Given the description of an element on the screen output the (x, y) to click on. 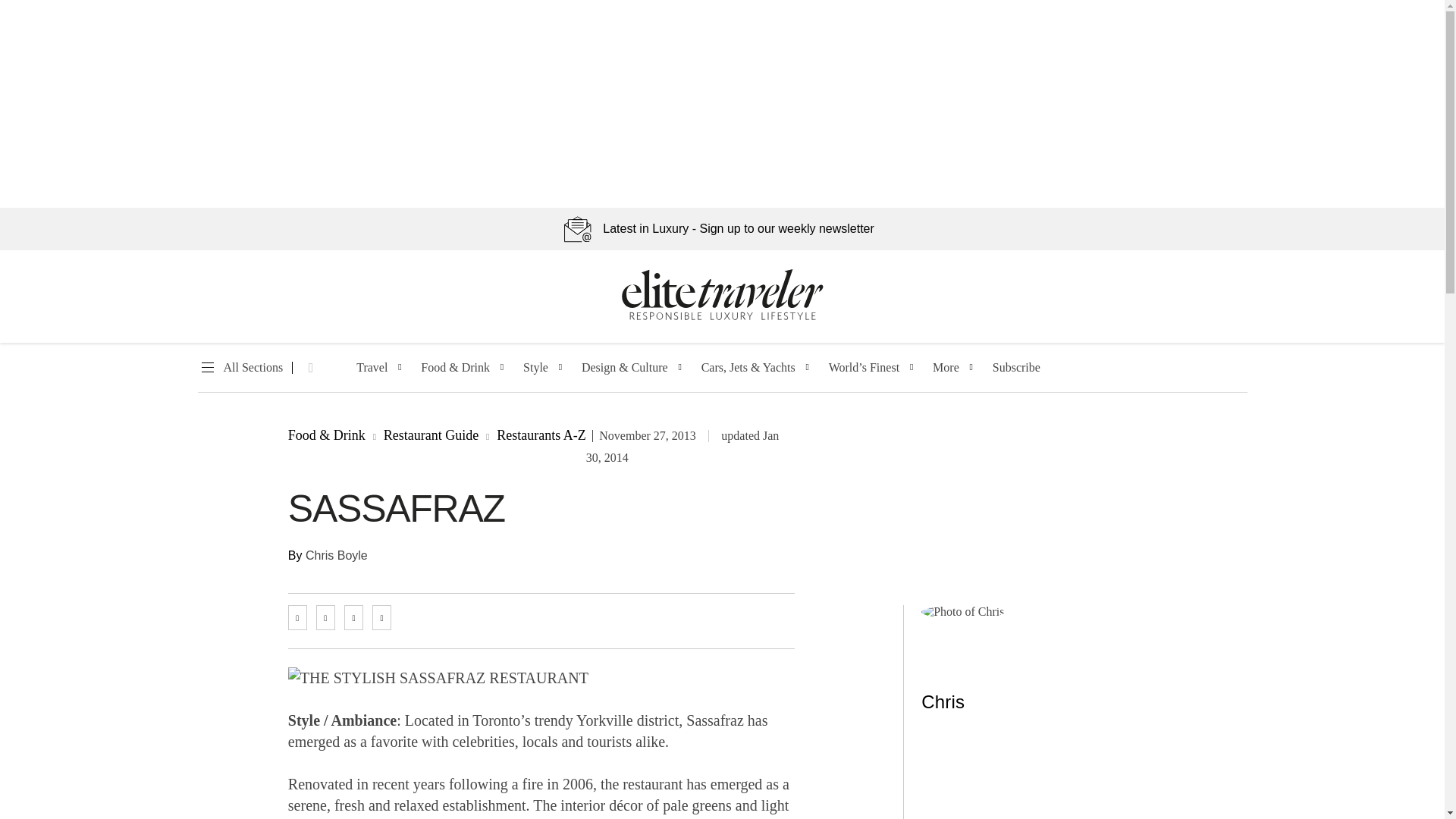
Travel (371, 368)
Elite Traveler (722, 317)
All Sections (239, 368)
The-stylish-Sassafraz-Restaurant (438, 677)
